Given the description of an element on the screen output the (x, y) to click on. 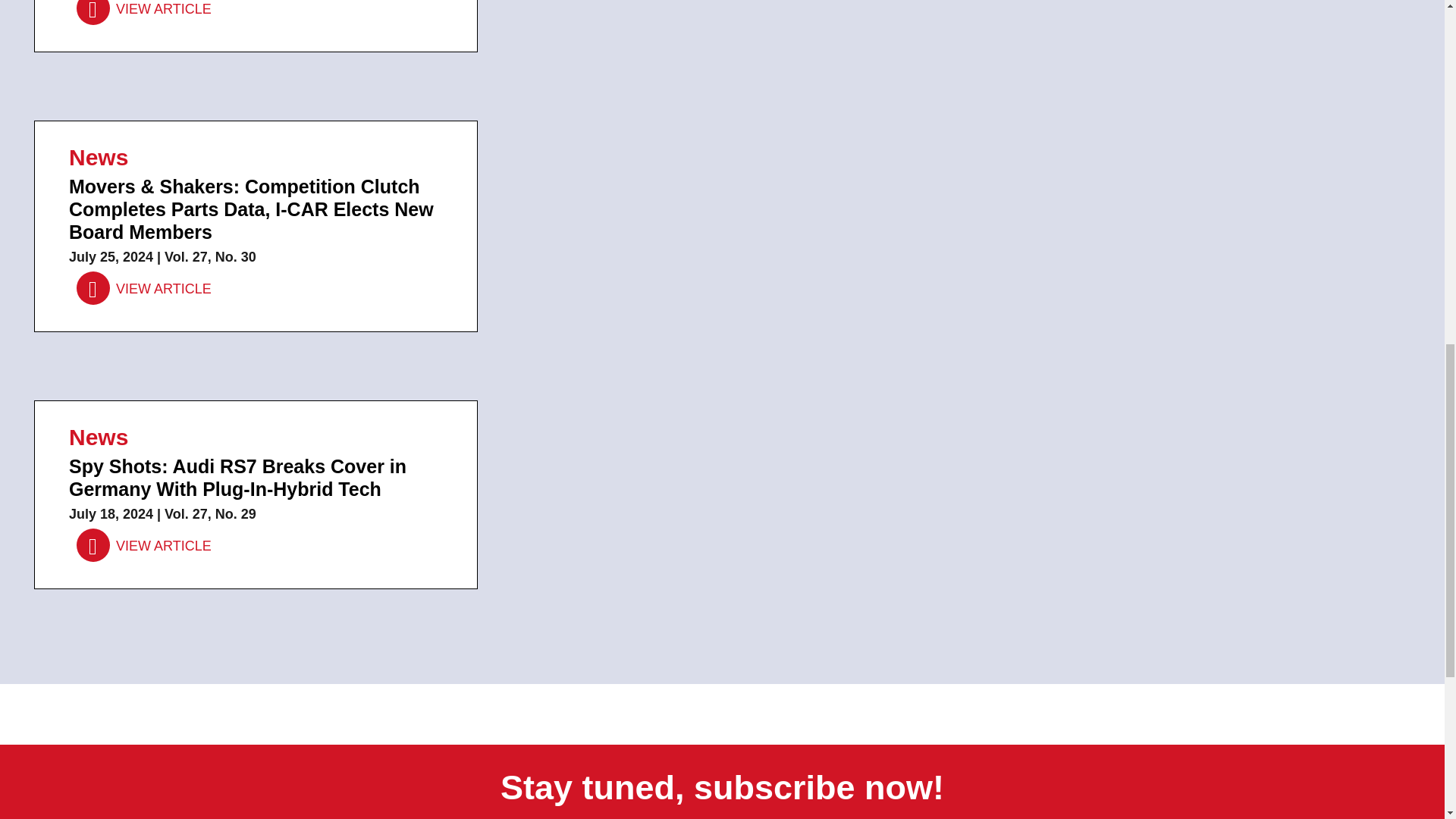
VIEW ARTICLE (143, 545)
VIEW ARTICLE (143, 288)
Spy Shots: Ferrari F250 Hypercar Drops Heavy Camo (143, 12)
VIEW ARTICLE (143, 12)
